Given the description of an element on the screen output the (x, y) to click on. 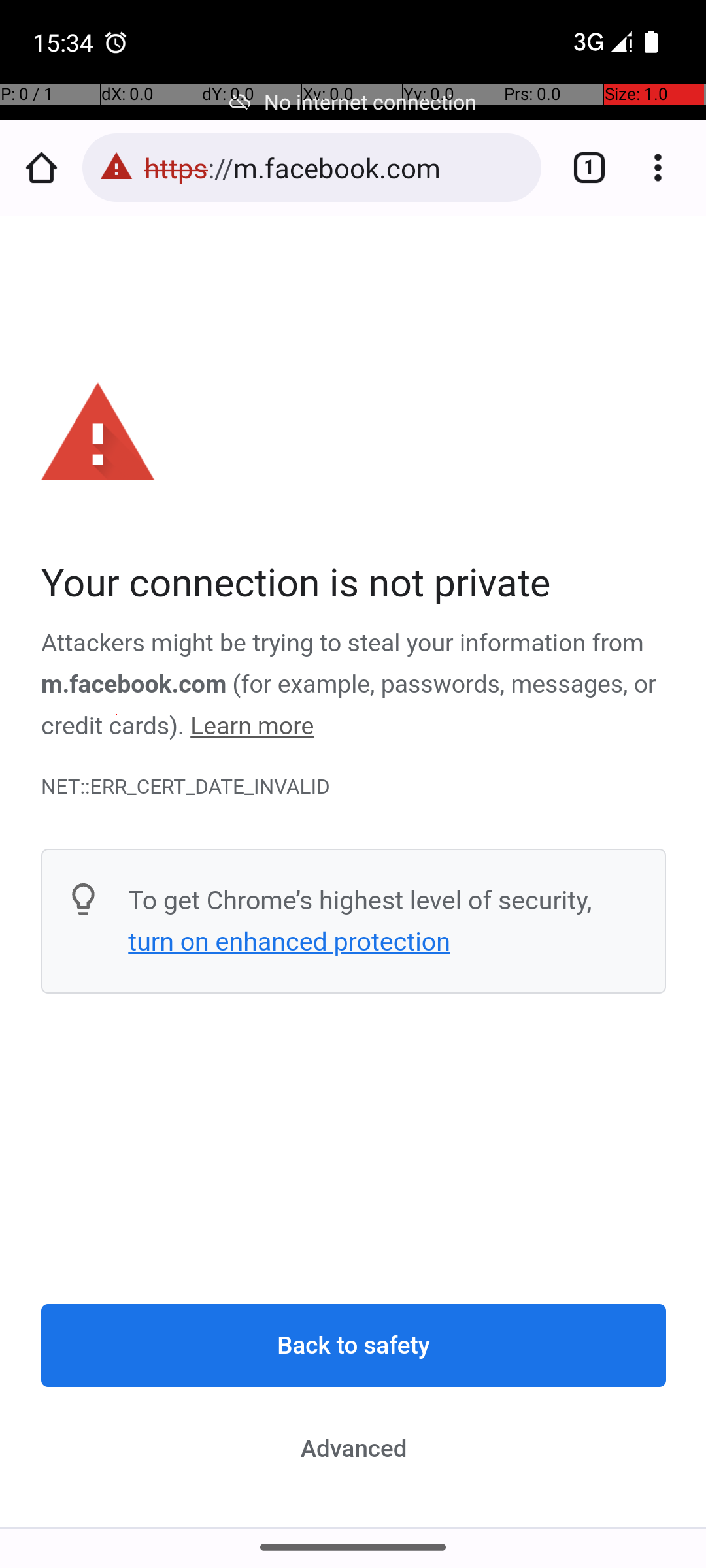
https://m.facebook.com Element type: android.widget.EditText (335, 167)
m.facebook.com Element type: android.widget.TextView (134, 684)
